Given the description of an element on the screen output the (x, y) to click on. 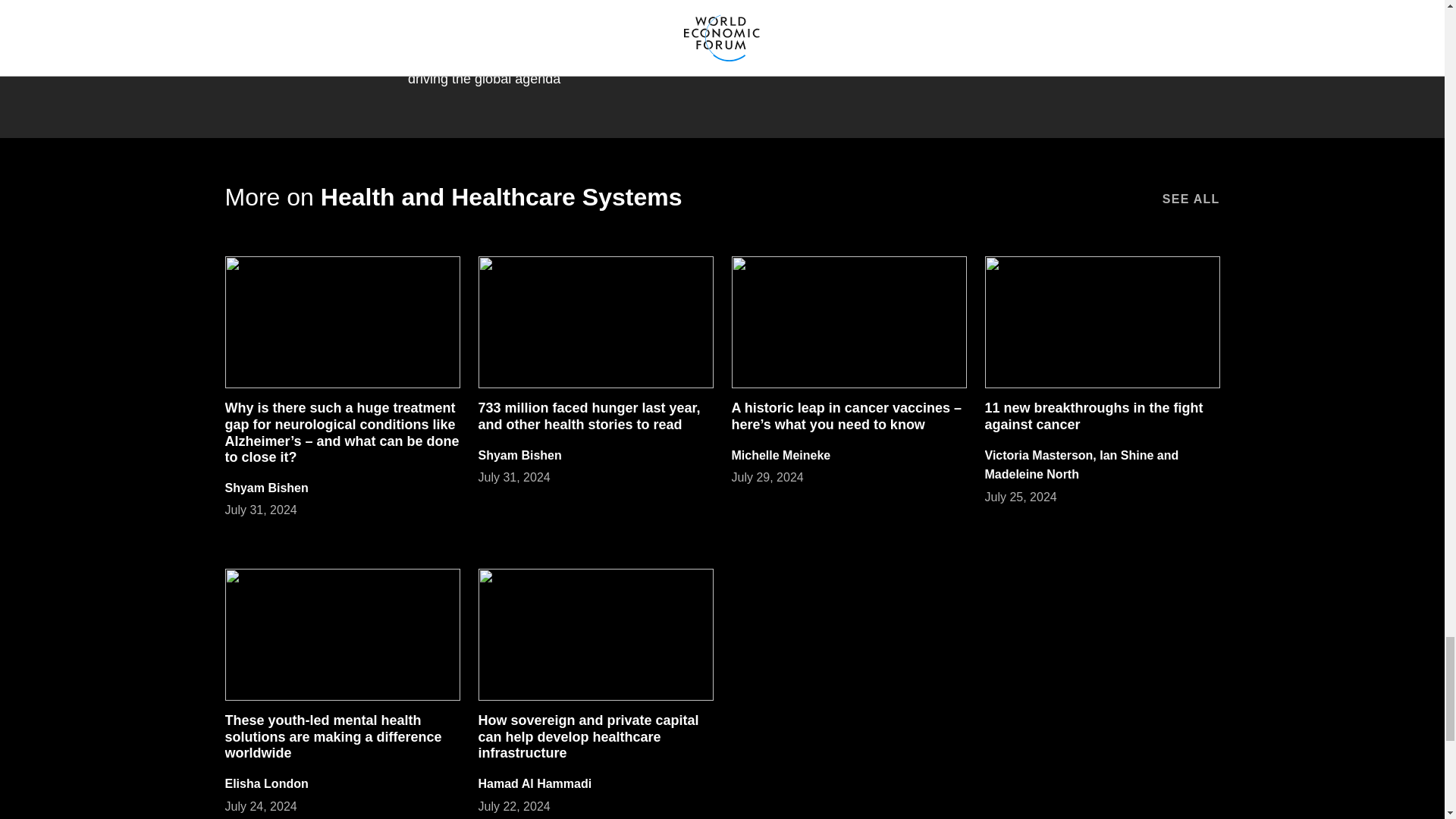
11 new breakthroughs in the fight against cancer (1093, 416)
Subscribe today (1059, 11)
privacy policy (1070, 61)
SEE ALL (1190, 196)
